Given the description of an element on the screen output the (x, y) to click on. 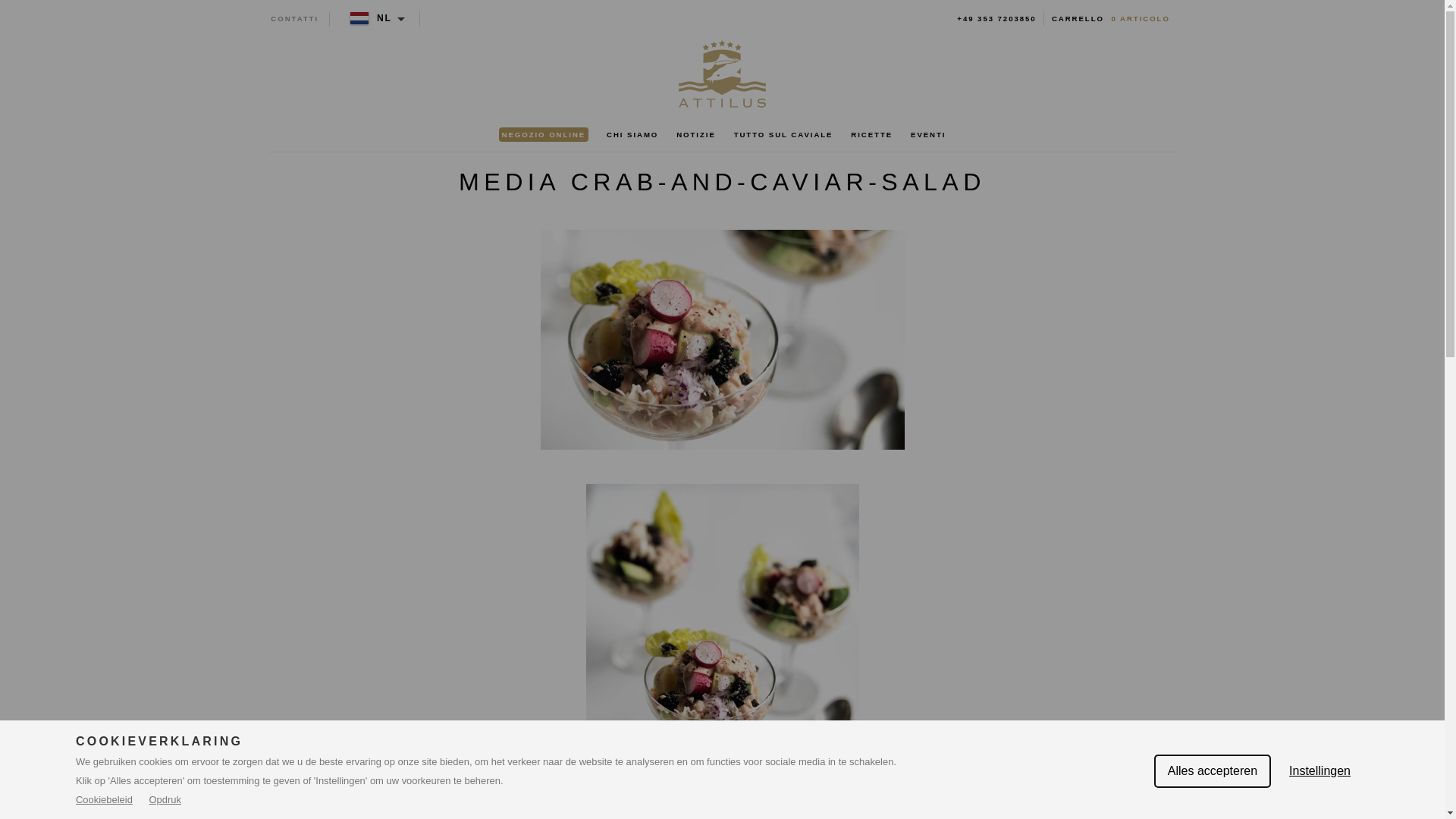
NOTIZIE Element type: text (696, 135)
CONTATTI Element type: text (293, 18)
CHI SIAMO Element type: text (632, 135)
Instellingen Element type: text (1319, 771)
NEGOZIO ONLINE Element type: text (543, 135)
EVENTI Element type: text (928, 135)
TUTTO SUL CAVIALE Element type: text (783, 135)
0 ARTICOLO Element type: text (1140, 18)
Alles accepteren Element type: text (1212, 770)
Cookiebeleid Element type: text (103, 799)
Opdruk Element type: text (164, 799)
RICETTE Element type: text (872, 135)
